Given the description of an element on the screen output the (x, y) to click on. 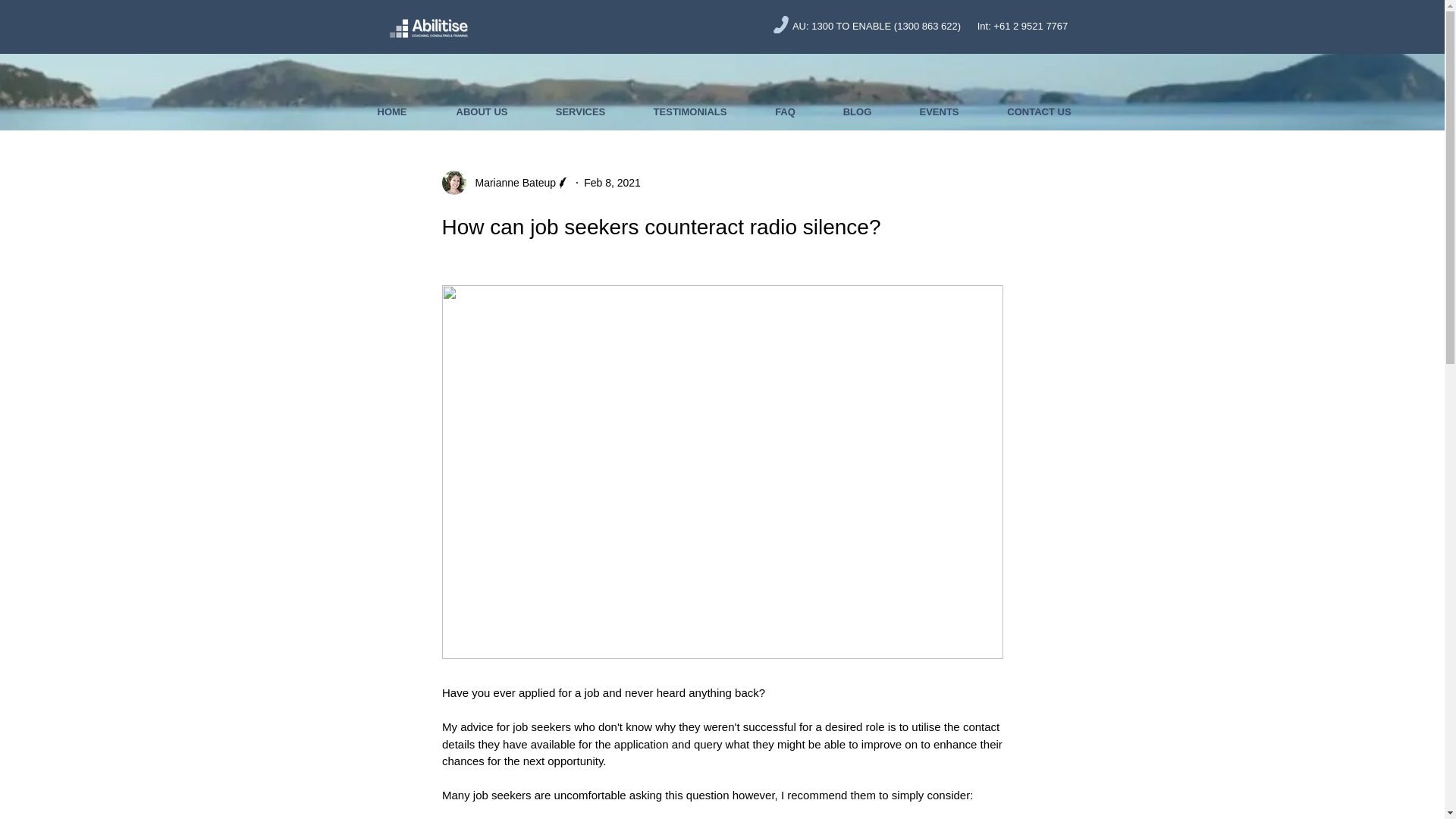
Abilitise-white-logo.png (428, 26)
ABOUT US (482, 112)
Marianne Bateup (510, 182)
FAQ (784, 112)
HOME (391, 112)
SERVICES (580, 112)
TESTIMONIALS (689, 112)
CONTACT US (1038, 112)
EVENTS (938, 112)
Feb 8, 2021 (611, 182)
